Given the description of an element on the screen output the (x, y) to click on. 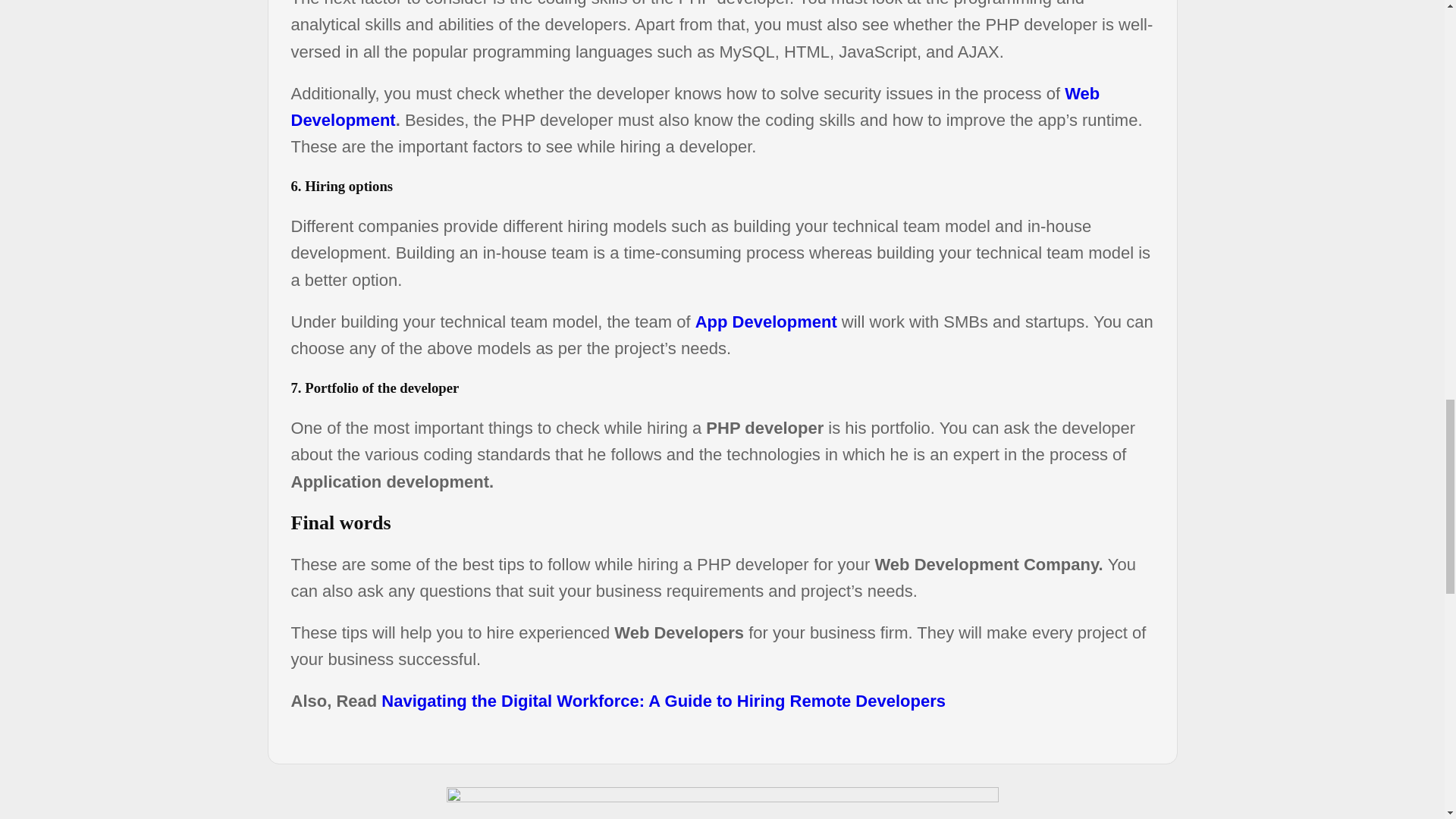
Web Development (695, 106)
App Development (766, 321)
